Given the description of an element on the screen output the (x, y) to click on. 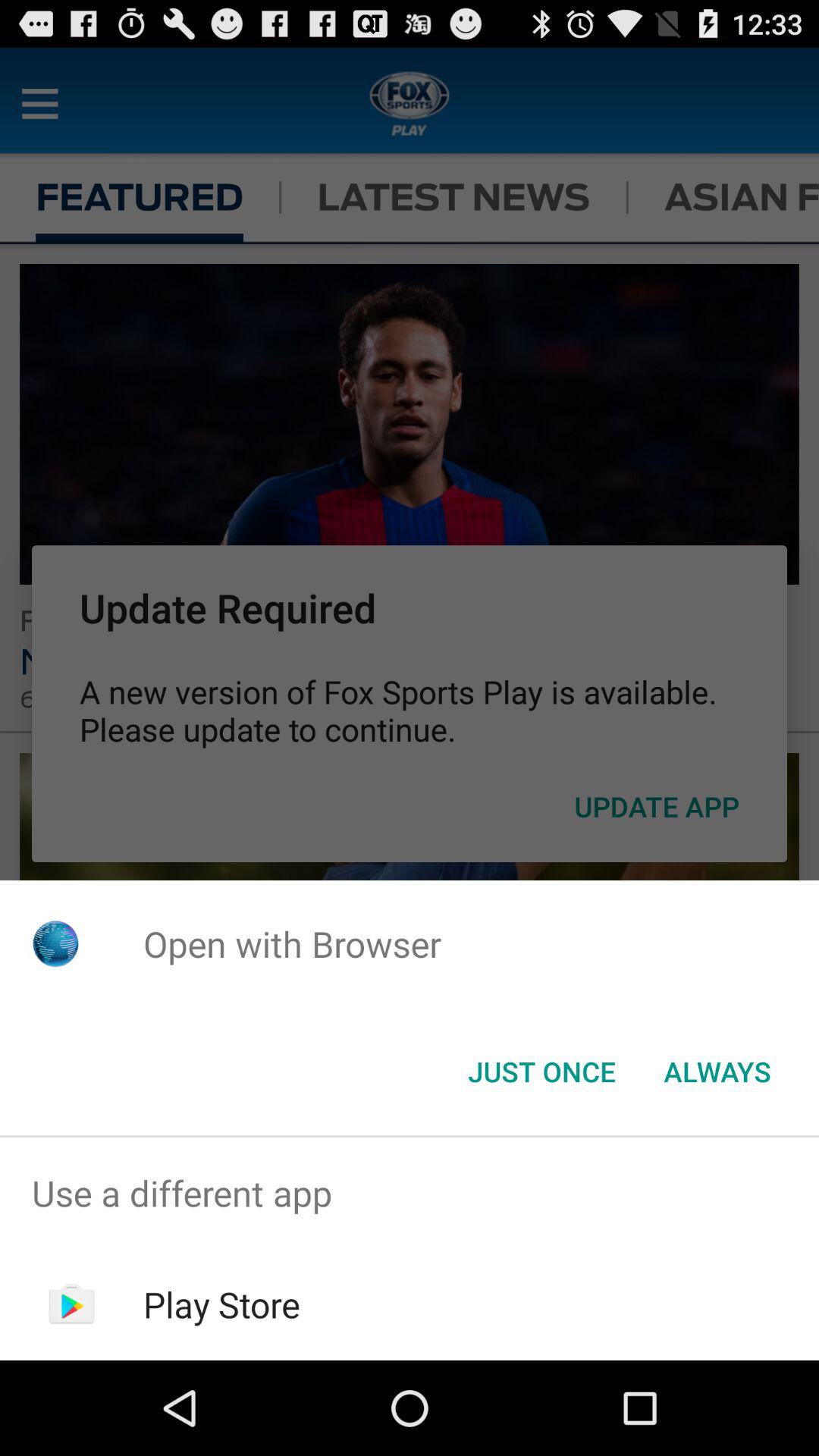
click the item below open with browser (541, 1071)
